Given the description of an element on the screen output the (x, y) to click on. 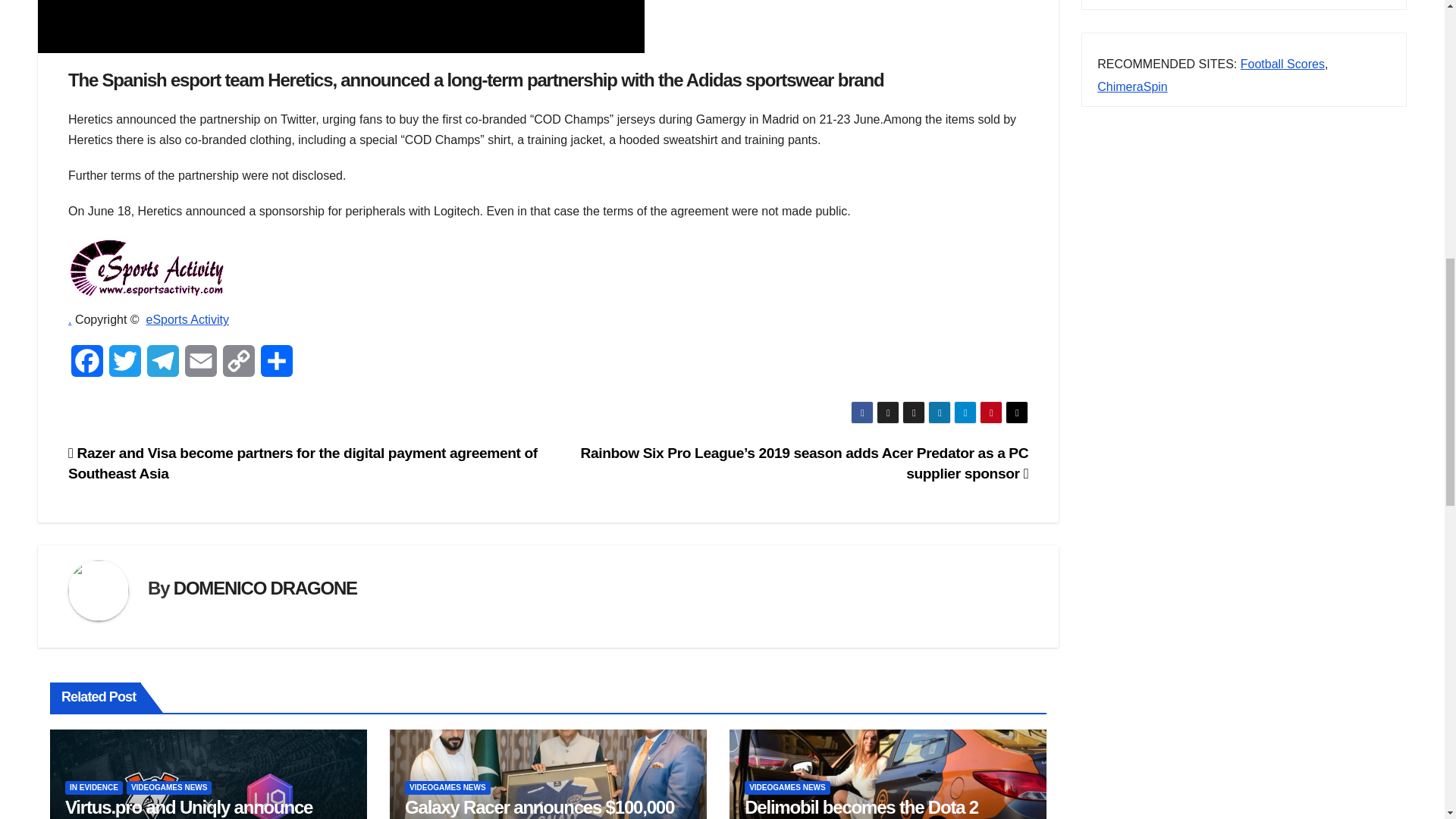
eSports Activity (186, 318)
